Given the description of an element on the screen output the (x, y) to click on. 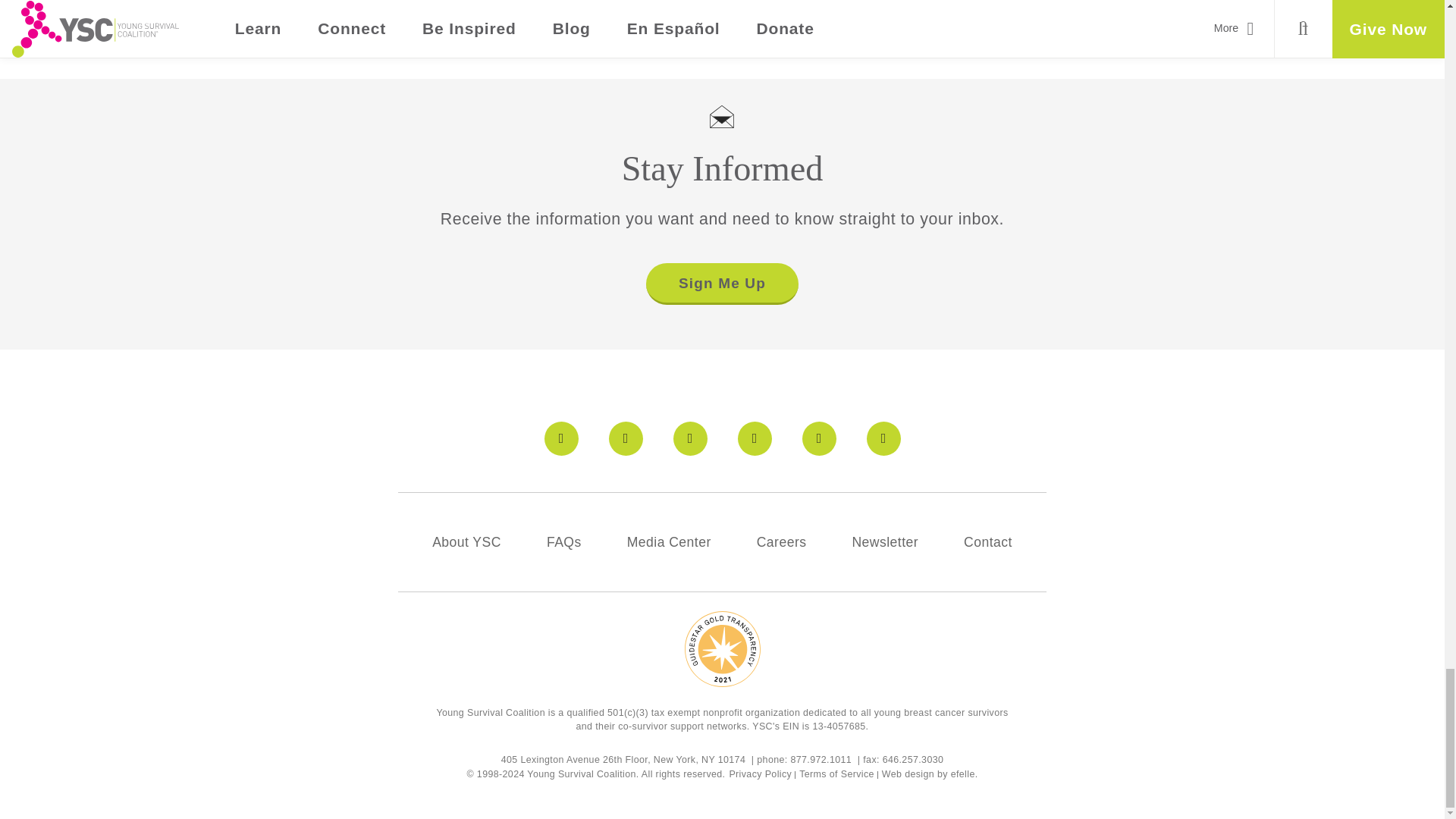
Web Design By Efelle (908, 774)
Candid Guidestar Gold Transparency Certified 2021 (721, 648)
Sign Me Up (721, 283)
